Given the description of an element on the screen output the (x, y) to click on. 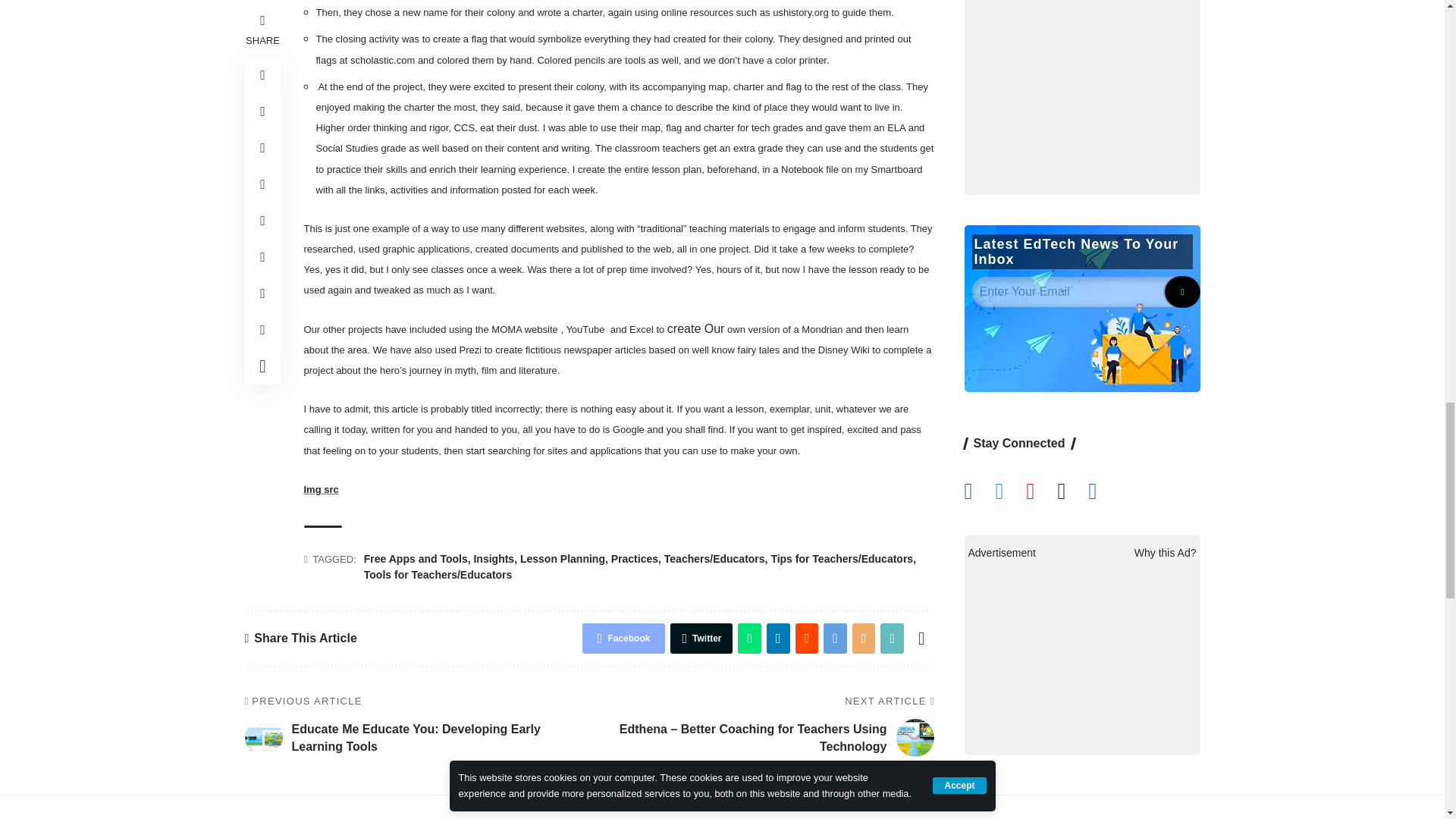
Educate Me Educate You: Developing Early Learning Tools (263, 737)
Edthena - Better Coaching for Teachers Using Technology (915, 737)
